Given the description of an element on the screen output the (x, y) to click on. 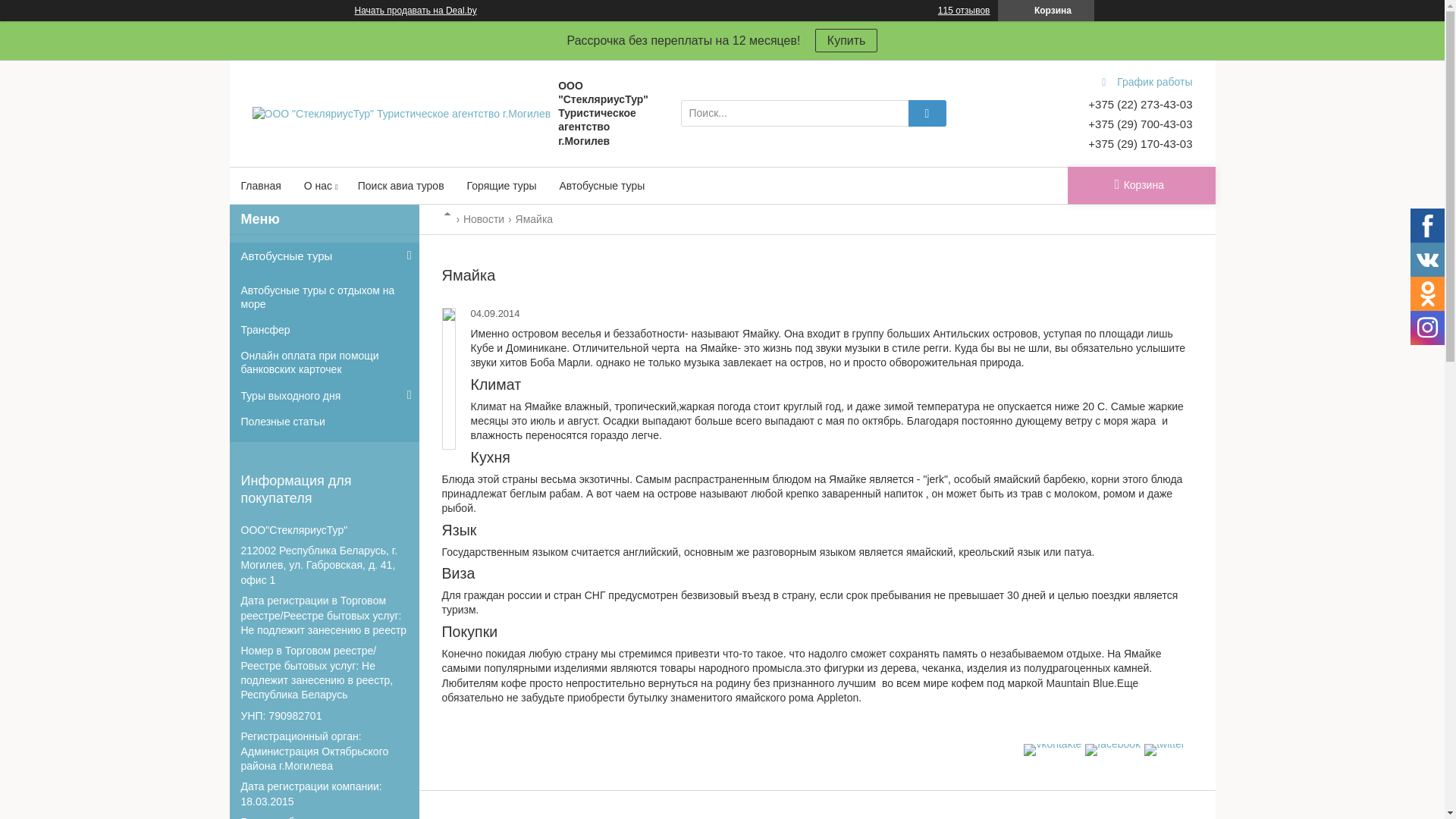
facebook Element type: hover (1112, 743)
twitter Element type: hover (1164, 743)
